Given the description of an element on the screen output the (x, y) to click on. 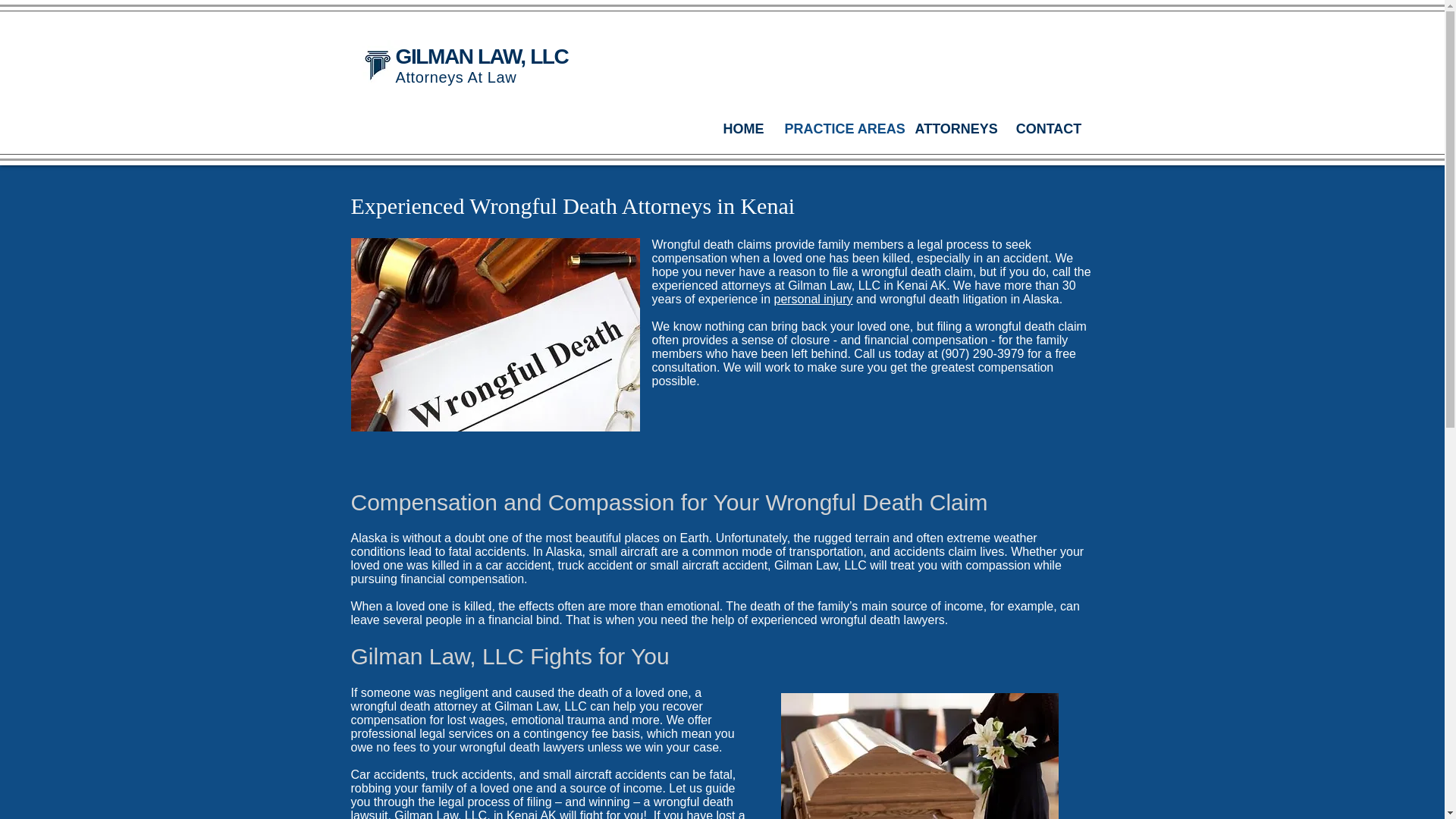
PRACTICE AREAS (838, 128)
personal injury (812, 298)
HOME (742, 128)
Attorneys At Law (456, 76)
ATTORNEYS (954, 128)
GILMAN LAW, LLC (482, 56)
CONTACT (1049, 128)
